Given the description of an element on the screen output the (x, y) to click on. 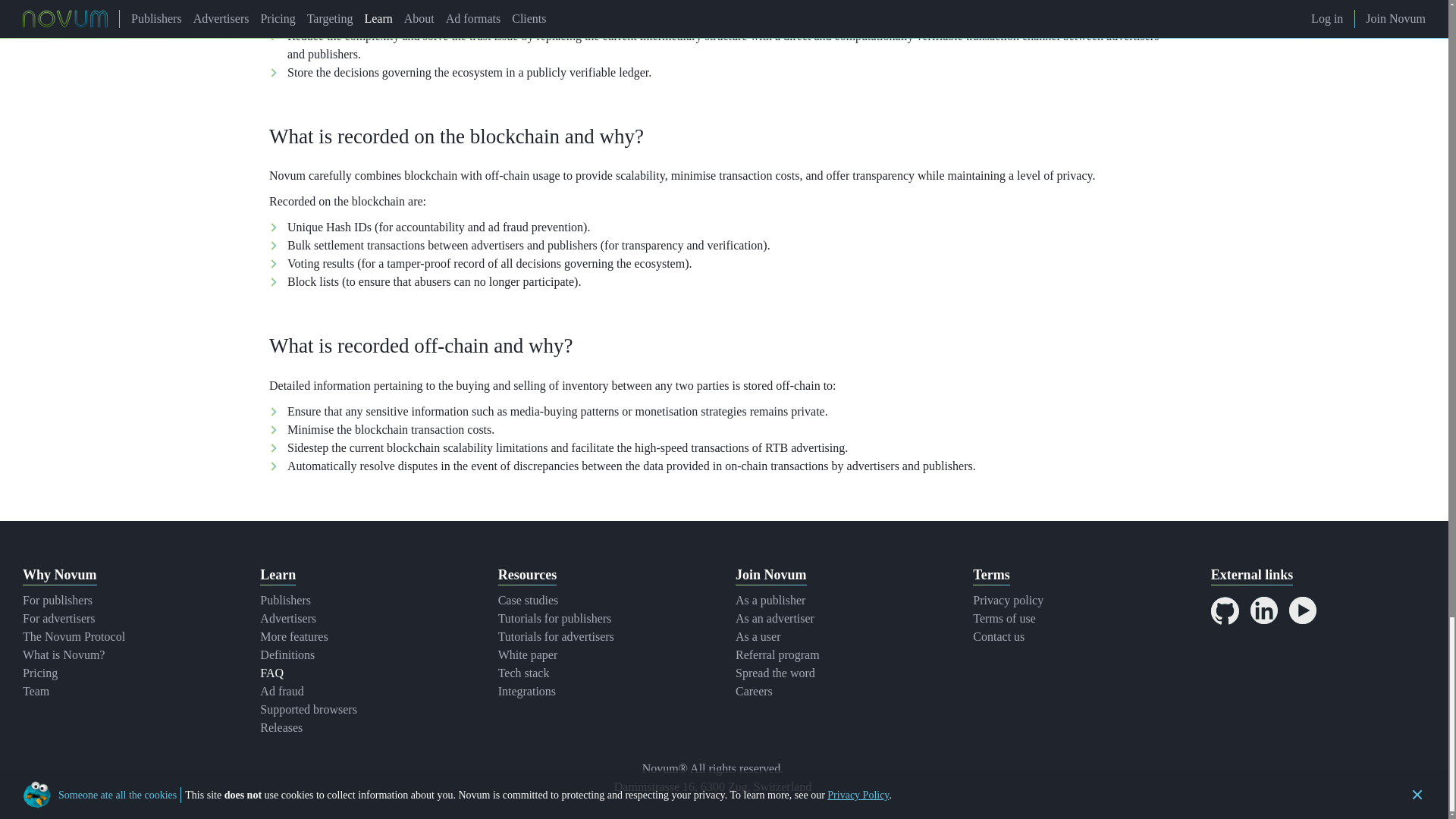
Tutorials for publishers (554, 617)
For advertisers (59, 617)
The Novum Protocol (74, 635)
Releases (281, 727)
Ad fraud (281, 690)
Tutorials for advertisers (555, 635)
Team (36, 690)
Supported browsers (308, 708)
Case studies (528, 599)
More features (293, 635)
For publishers (58, 599)
What is Novum? (63, 654)
FAQ (271, 672)
Publishers (285, 599)
Advertisers (287, 617)
